Given the description of an element on the screen output the (x, y) to click on. 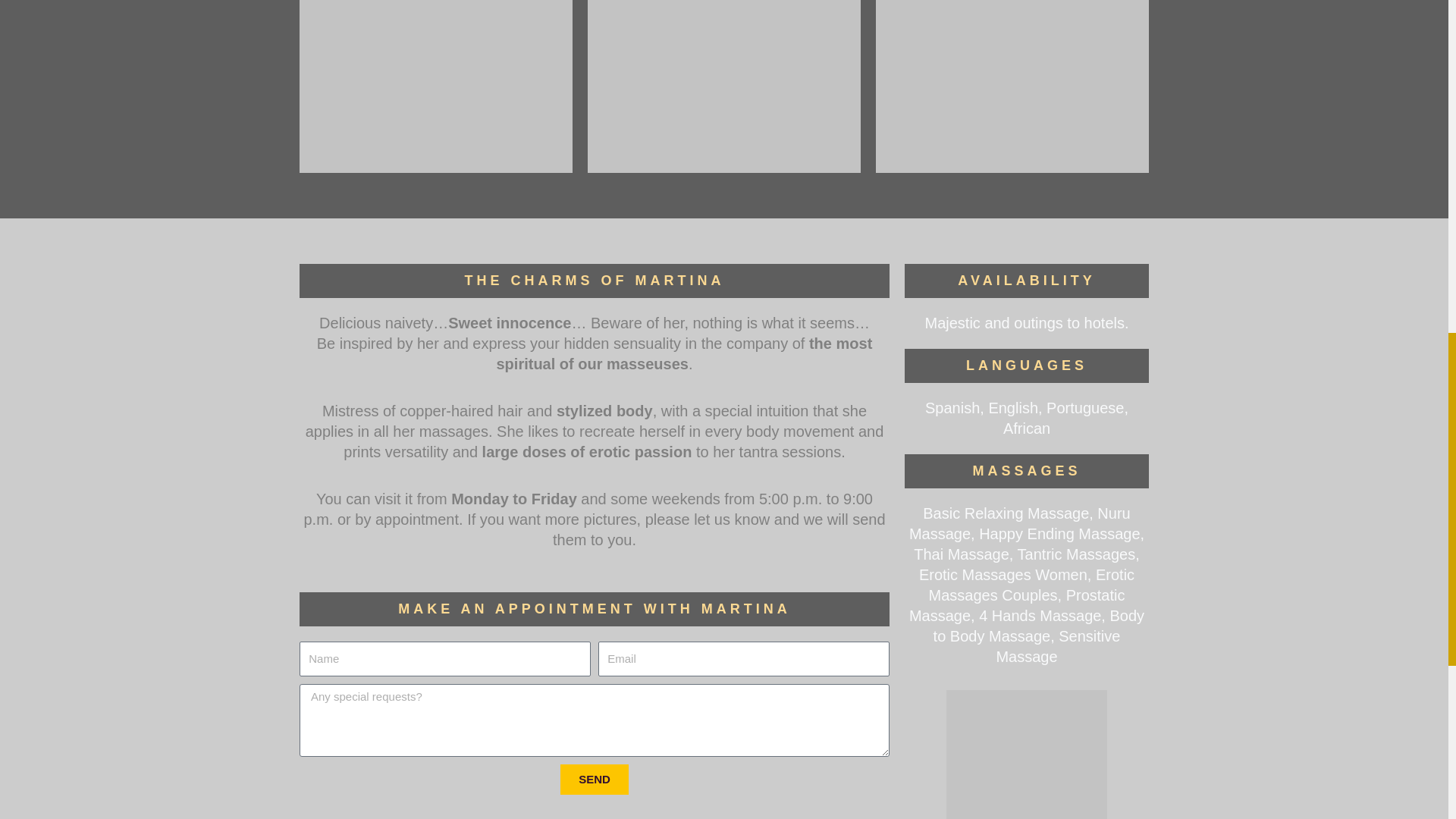
SEND (594, 779)
